Given the description of an element on the screen output the (x, y) to click on. 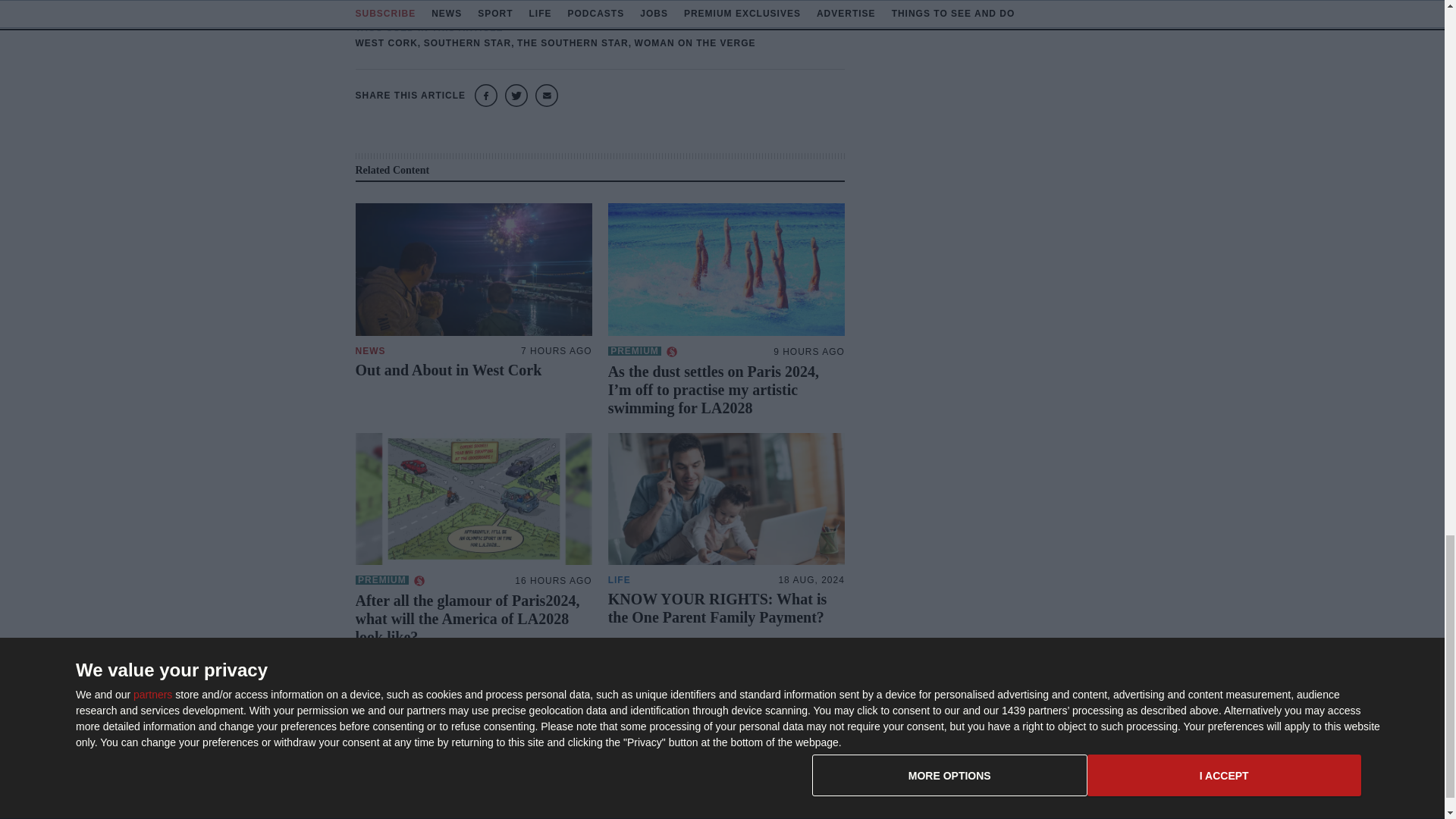
Southern Star Ltd. logo (430, 731)
ePaper (839, 726)
Comments Policy (1017, 775)
Advertise With Us (863, 750)
Contact Us (1002, 726)
Learn A Language (864, 799)
Archive (839, 775)
